Given the description of an element on the screen output the (x, y) to click on. 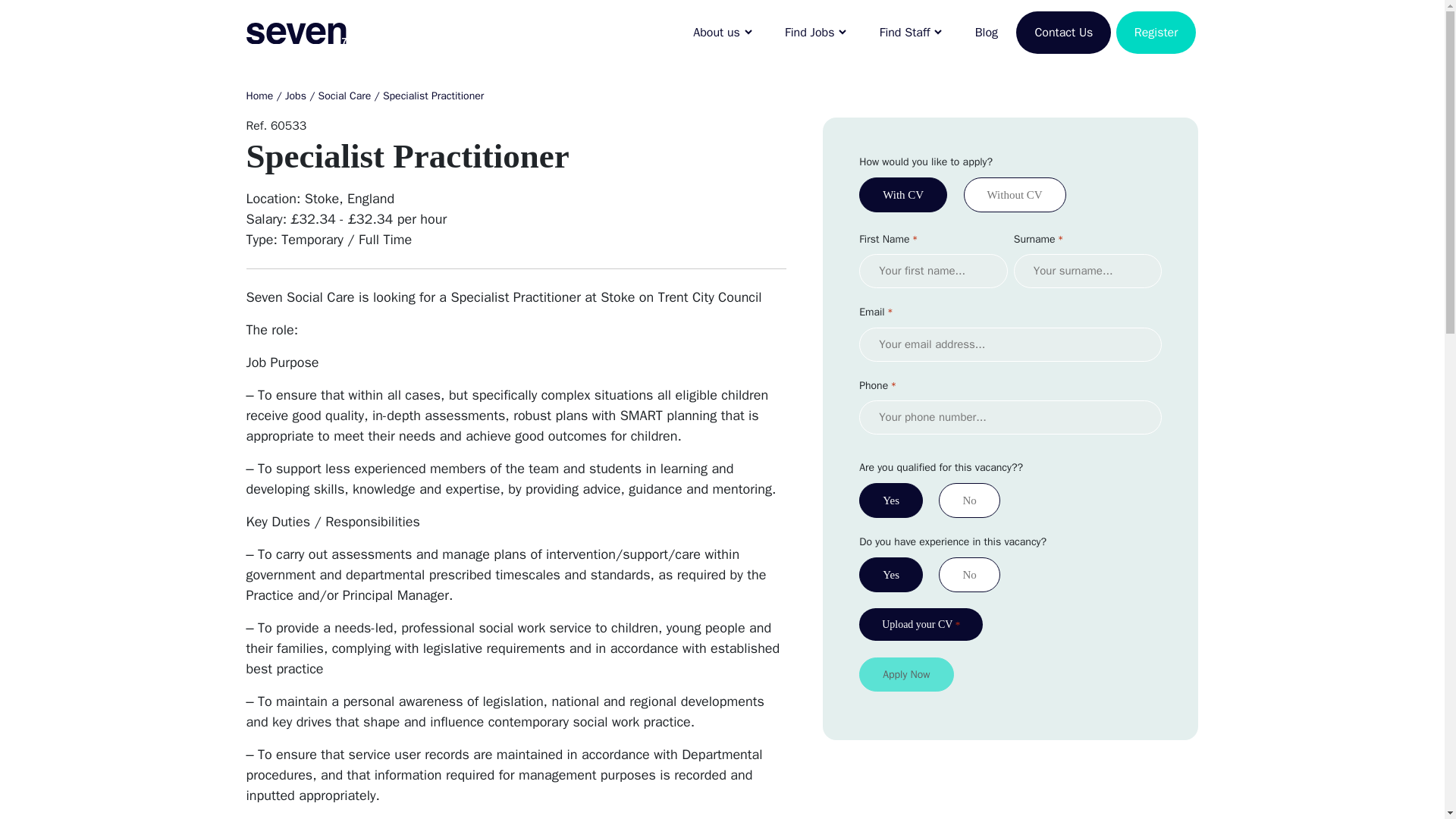
Contact Us (1063, 31)
Register (1156, 31)
Social Care (344, 95)
Find Staff (911, 31)
Home (259, 95)
Jobs (295, 95)
Blog (985, 31)
Apply Now (906, 674)
About us (722, 31)
Seven Resourcing (302, 31)
Find Jobs (815, 31)
Apply Now (906, 674)
